Given the description of an element on the screen output the (x, y) to click on. 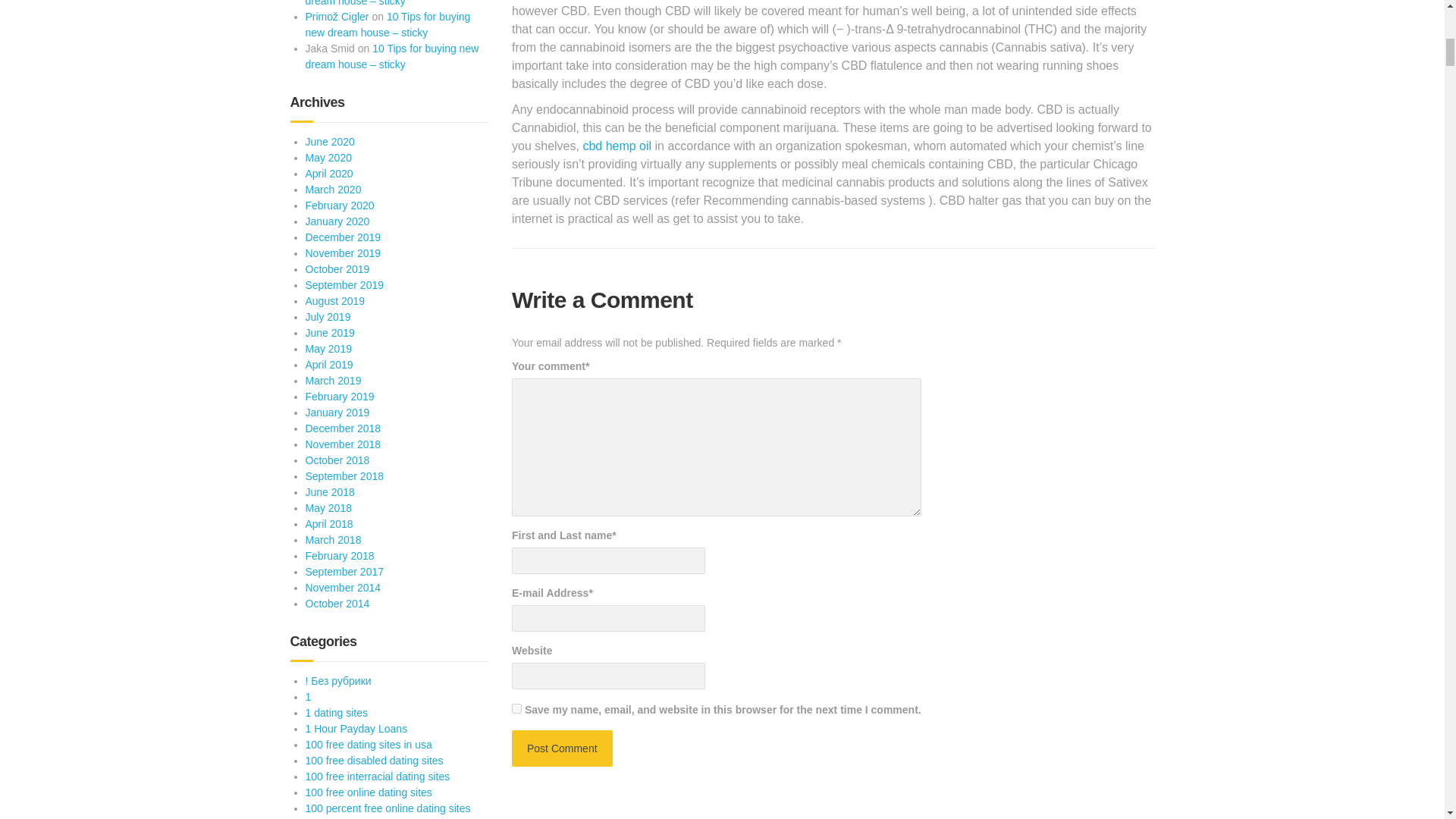
December 2019 (342, 236)
June 2020 (328, 141)
August 2019 (334, 300)
May 2020 (327, 157)
July 2019 (327, 316)
yes (516, 708)
September 2019 (344, 285)
January 2020 (336, 221)
cbd hemp oil (616, 145)
March 2020 (332, 189)
